Given the description of an element on the screen output the (x, y) to click on. 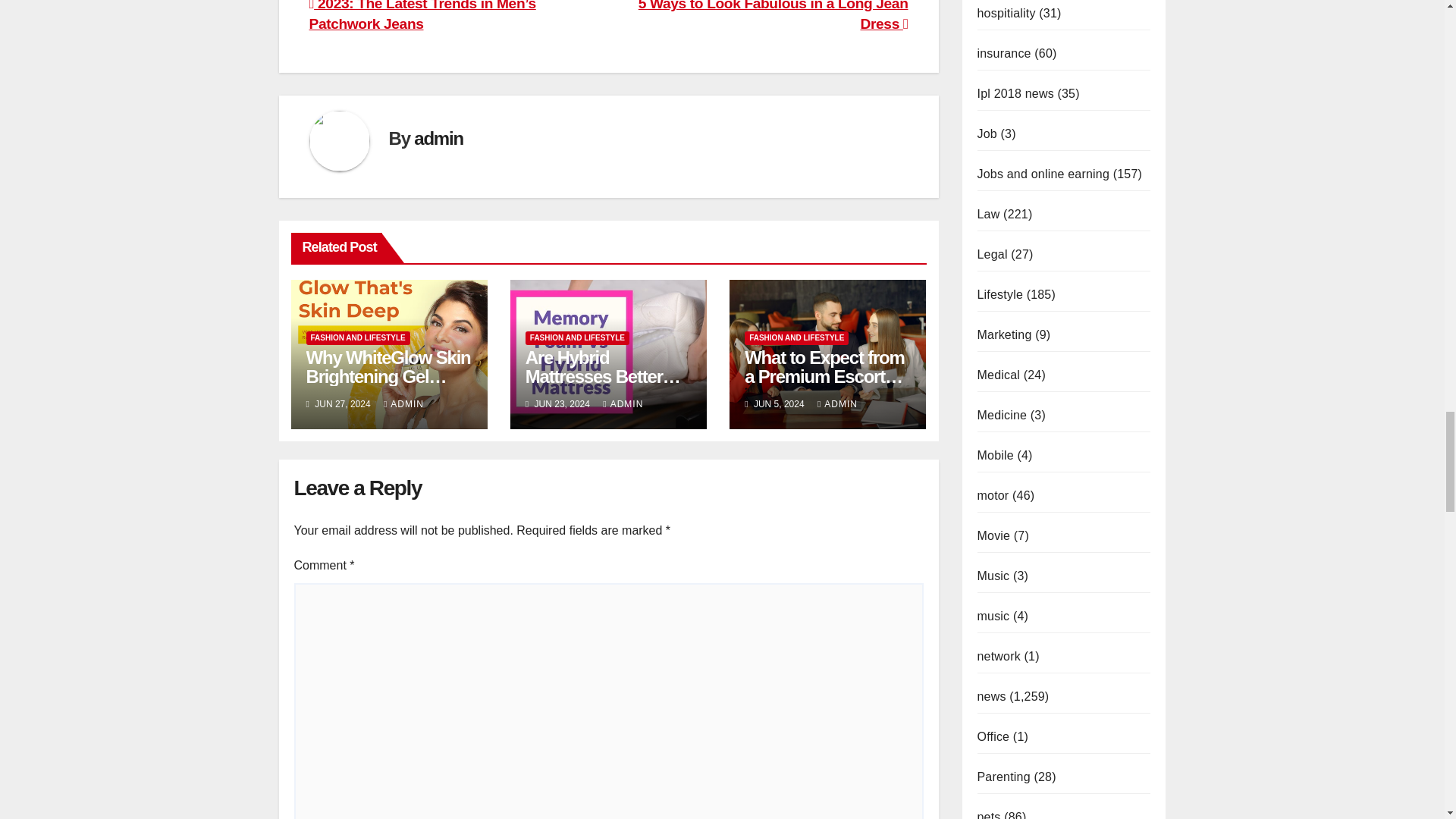
FASHION AND LIFESTYLE (357, 337)
FASHION AND LIFESTYLE (576, 337)
5 Ways to Look Fabulous in a Long Jean Dress (773, 15)
admin (438, 137)
ADMIN (403, 403)
Permalink to: What to Expect from a Premium Escort Agency? (824, 376)
Are Hybrid Mattresses Better Than Foam (603, 376)
Permalink to: Are Hybrid Mattresses Better Than Foam (603, 376)
